Given the description of an element on the screen output the (x, y) to click on. 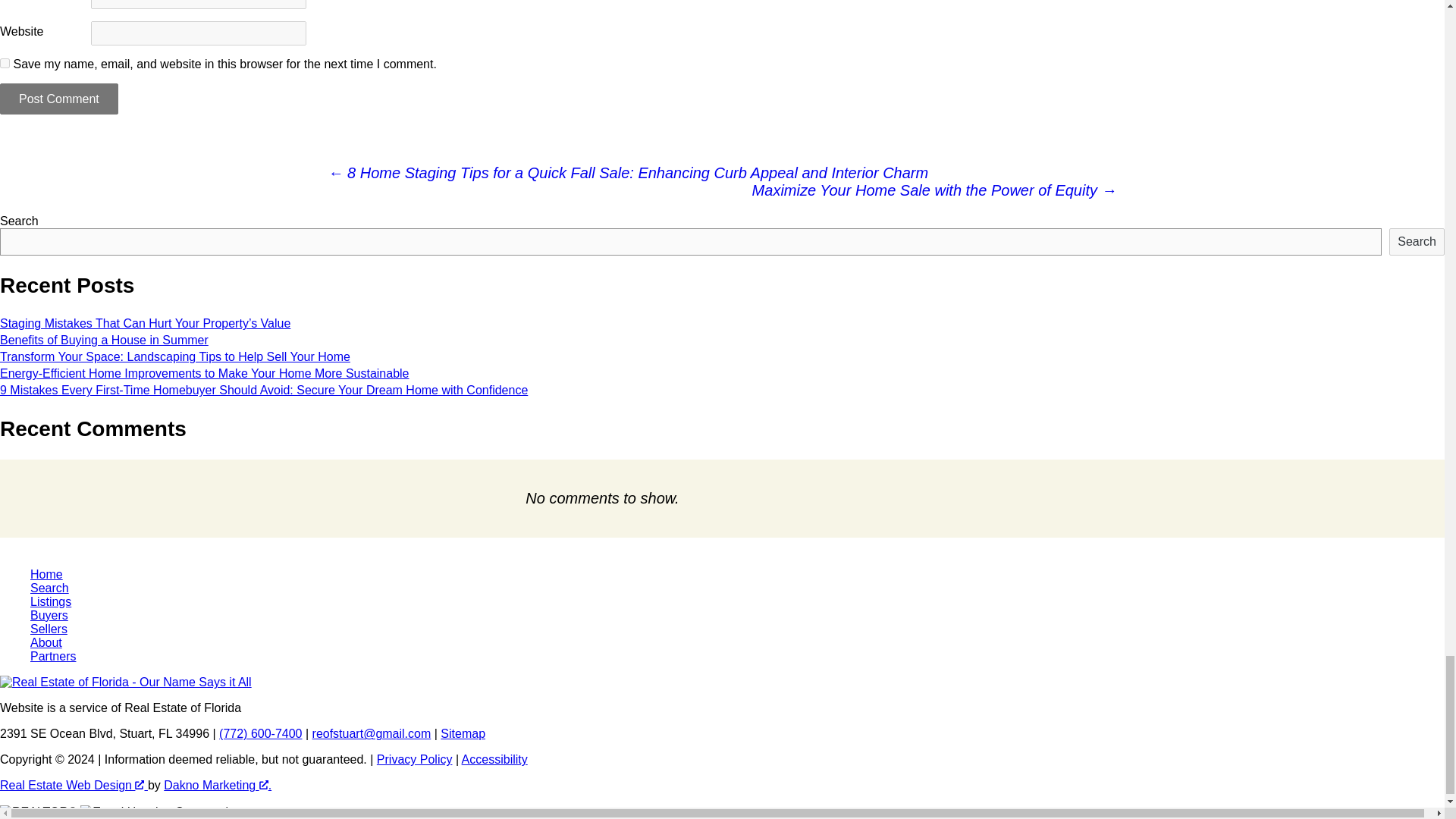
Post Comment (58, 98)
yes (5, 62)
